Given the description of an element on the screen output the (x, y) to click on. 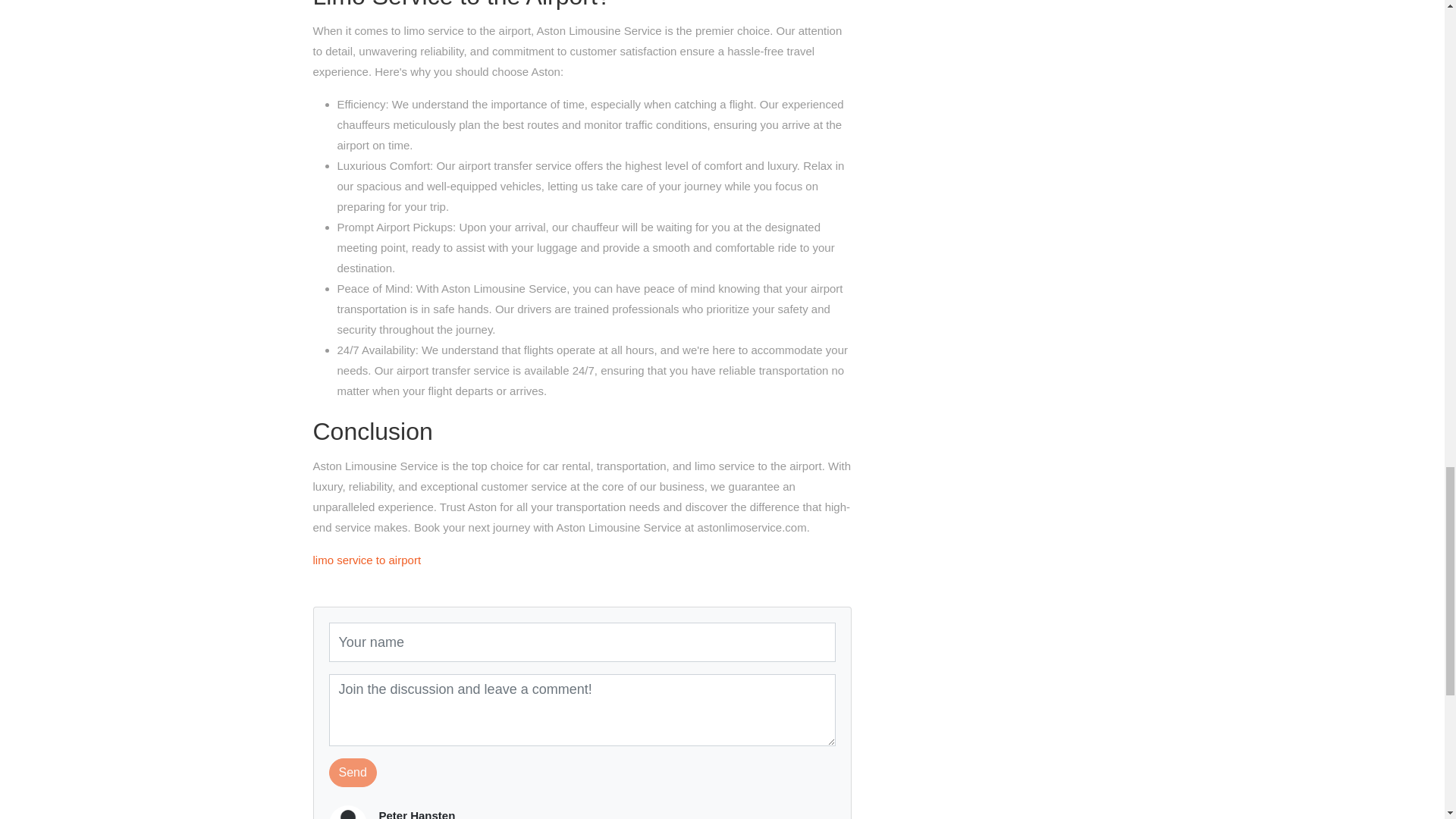
Send (353, 772)
limo service to airport (366, 559)
Send (353, 772)
